Given the description of an element on the screen output the (x, y) to click on. 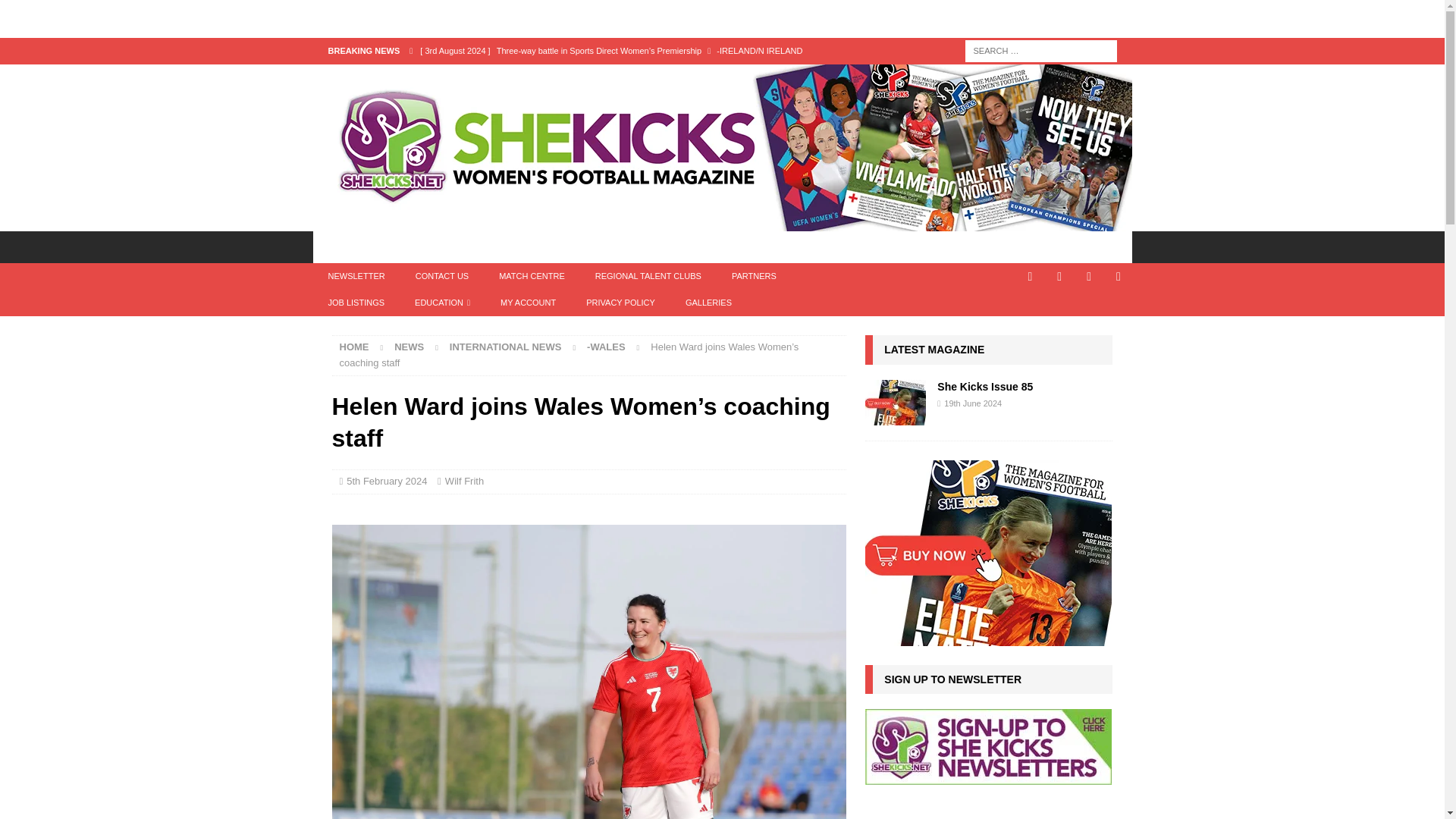
Search (56, 11)
Home (354, 346)
SheKicks (722, 223)
HOME (343, 246)
NEWS (406, 246)
China midfielder Shen Mengyu joins London City Lionesses (627, 76)
-Wales (606, 346)
